Given the description of an element on the screen output the (x, y) to click on. 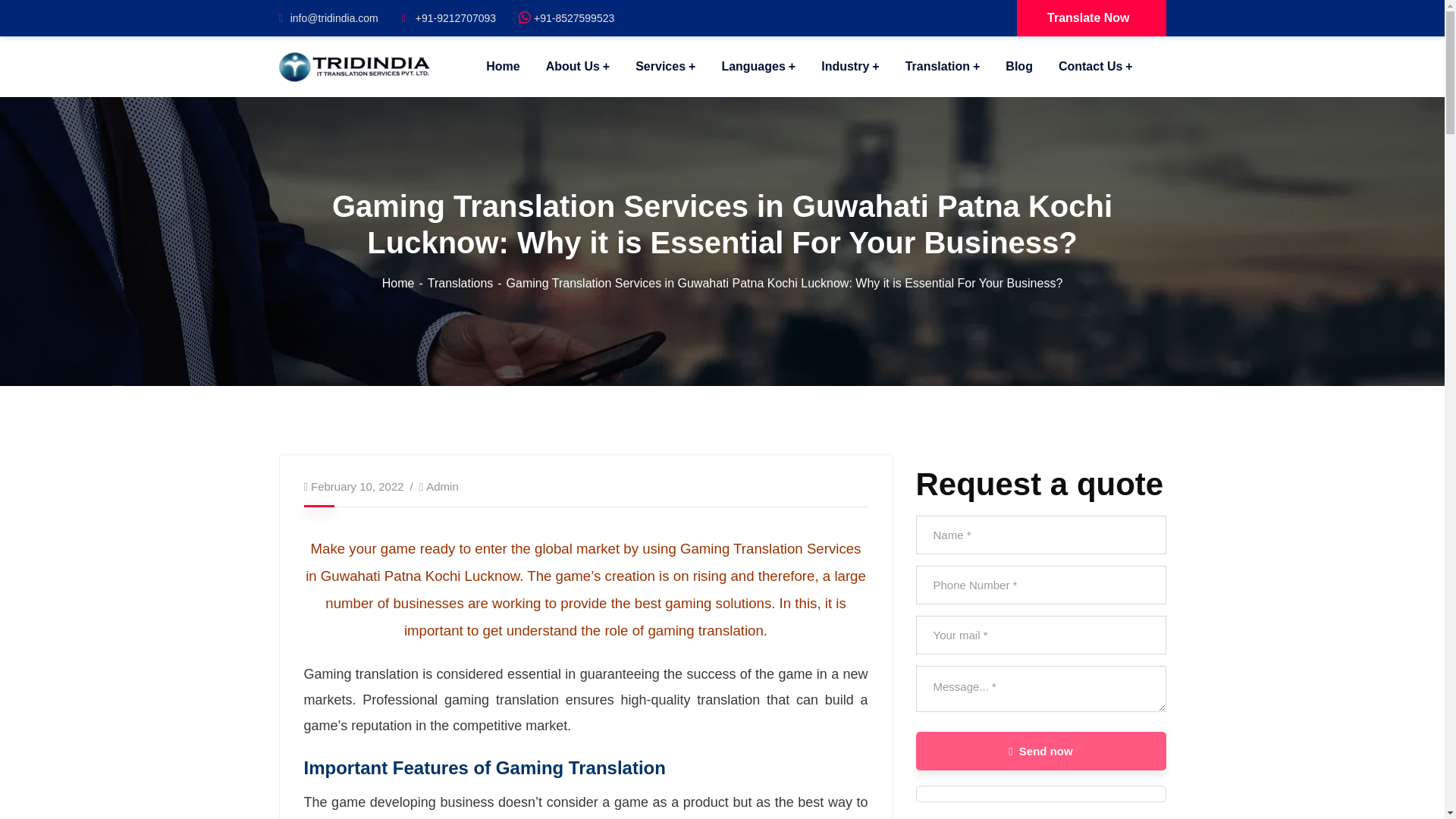
About Us (578, 66)
Services (664, 66)
Posts by Admin (442, 486)
Tridindia (354, 65)
Translate Now (1091, 18)
